Given the description of an element on the screen output the (x, y) to click on. 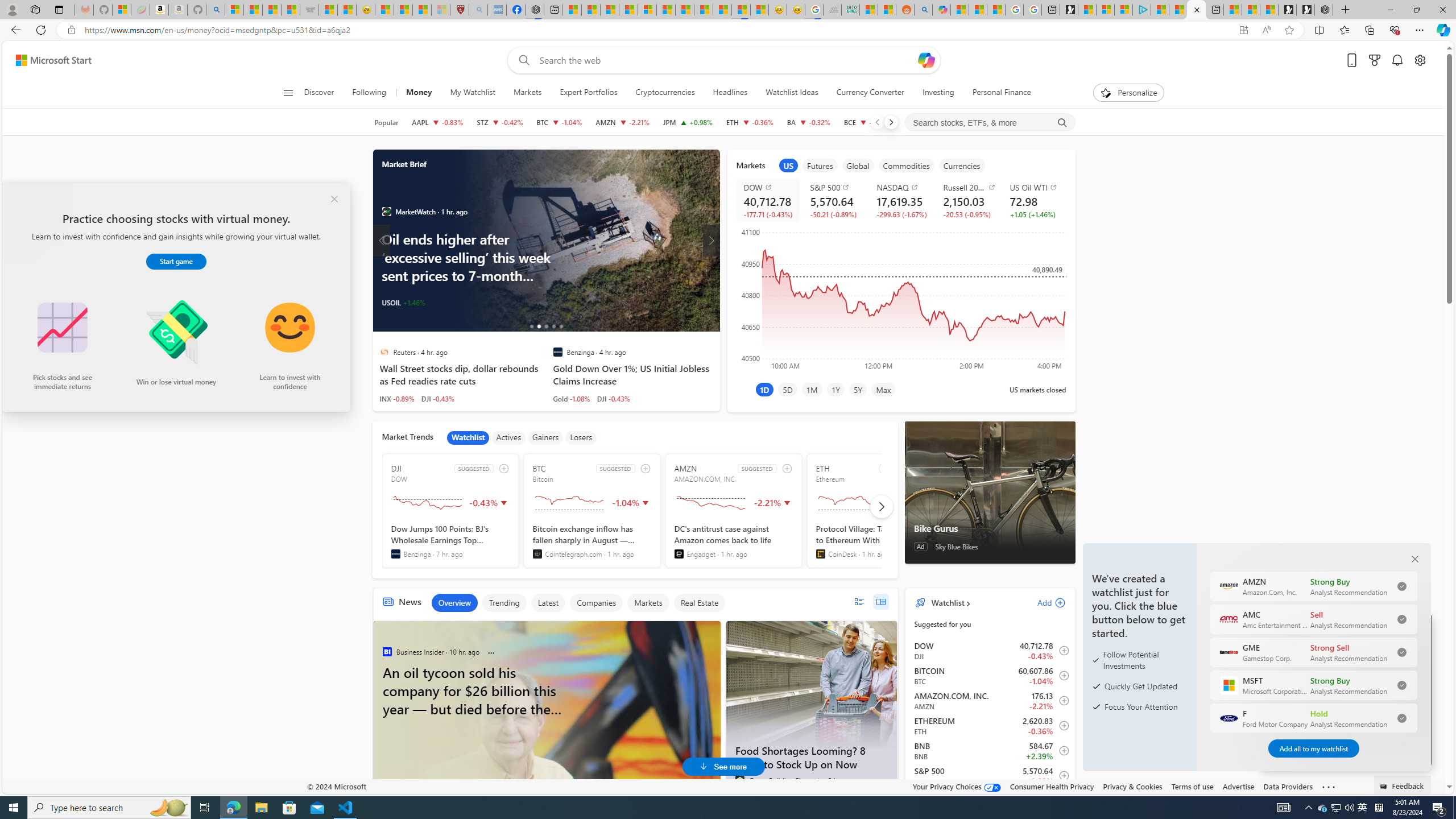
Cointelegraph.com (536, 553)
ETH Ethereum decrease 2,620.83 -9.43 -0.36% item3 (989, 725)
Companies (596, 602)
Max (882, 389)
INX S&P 500 decrease 5,570.64 -50.21 -0.89% item5 (989, 775)
item2 (819, 164)
Investing (937, 92)
